Given the description of an element on the screen output the (x, y) to click on. 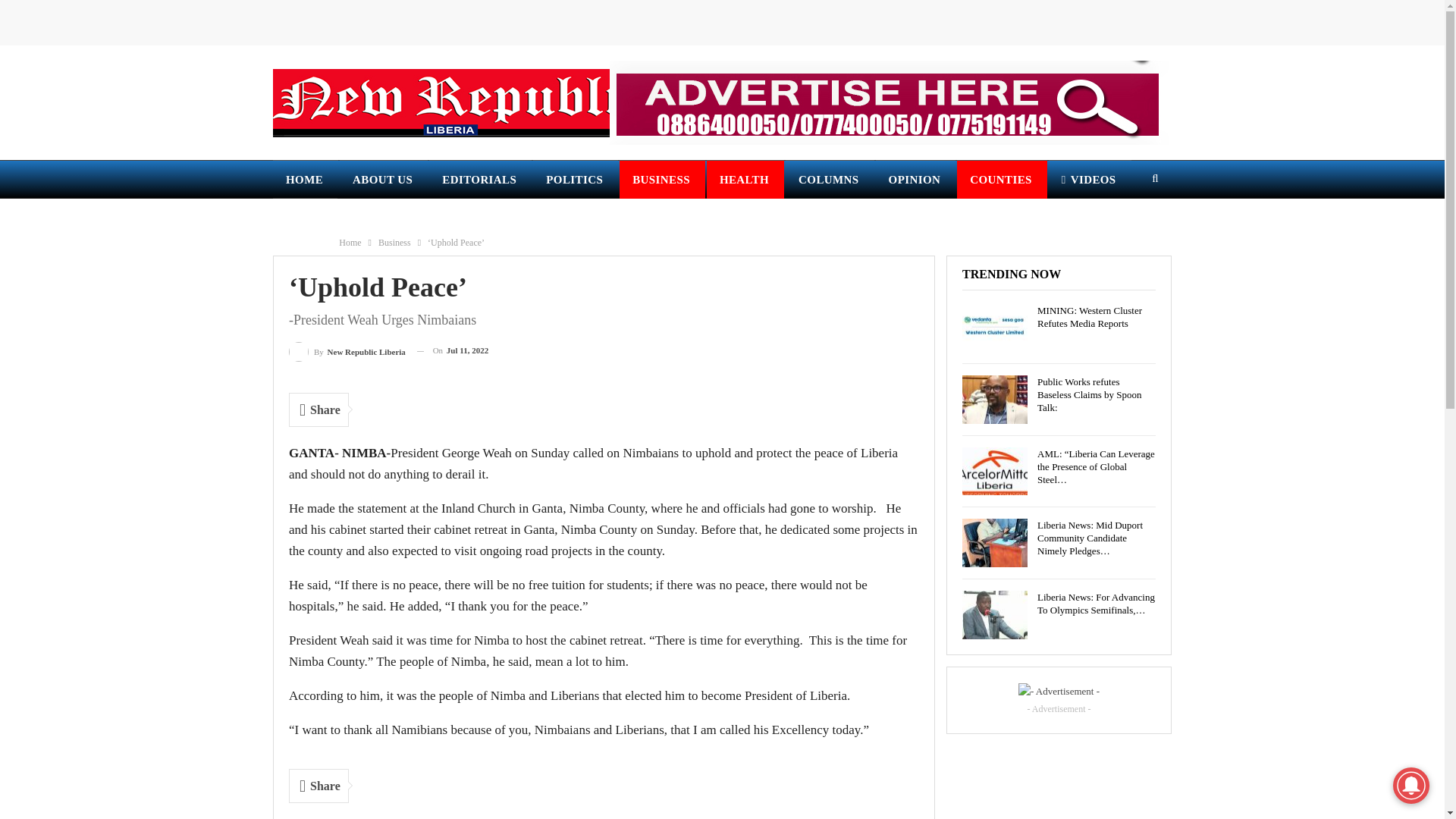
BUSINESS (662, 179)
Browse Author Articles (347, 350)
OPINION (916, 179)
VIDEOS (1089, 179)
Home (350, 242)
ABOUT US (383, 179)
COUNTIES (1001, 179)
HEALTH (745, 179)
EDITORIALS (480, 179)
HOME (305, 179)
